Given the description of an element on the screen output the (x, y) to click on. 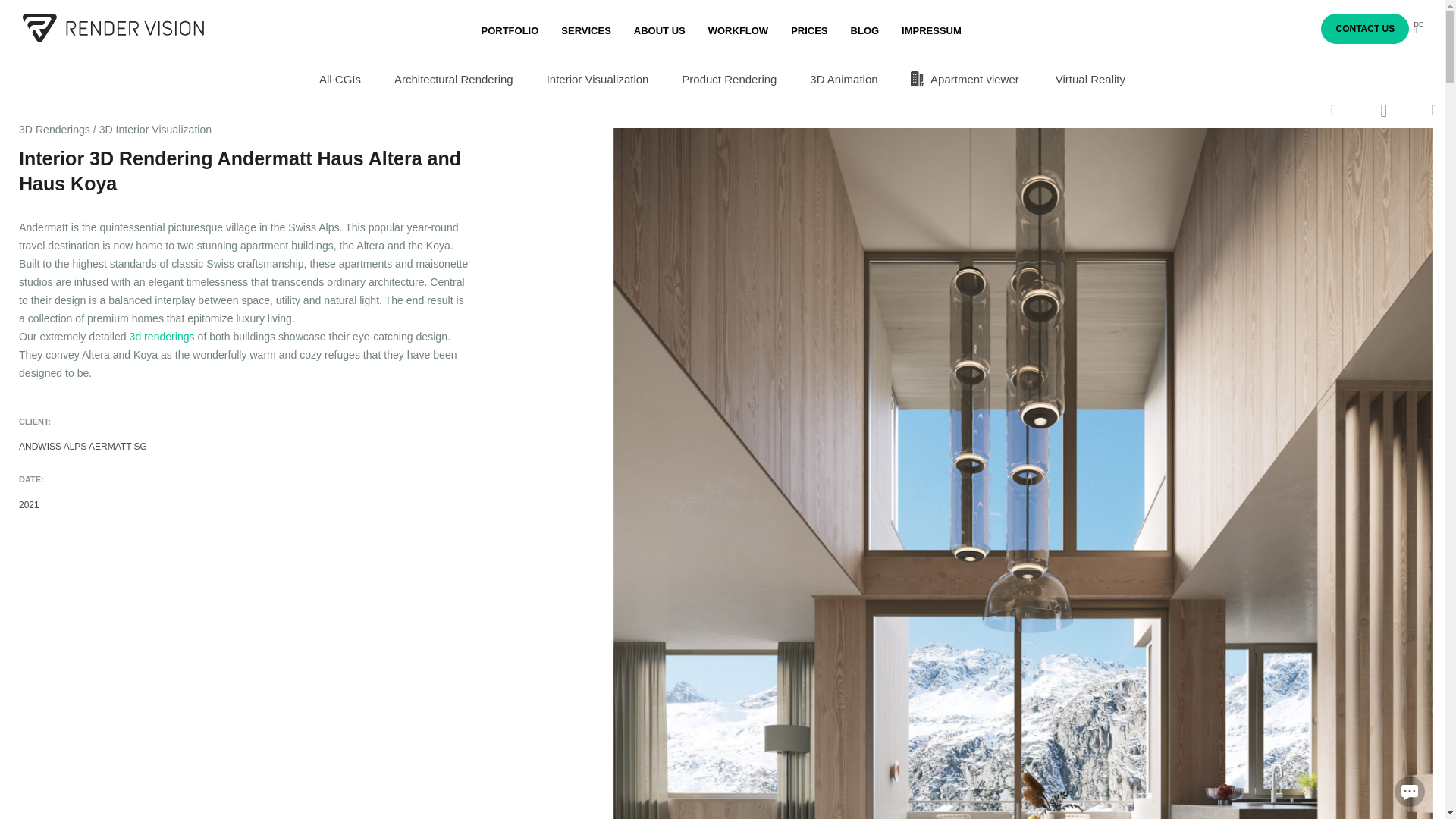
3D Renderings (54, 129)
PRICES (808, 30)
WORKFLOW (737, 30)
PORTFOLIO (509, 30)
SERVICES (585, 30)
IMPRESSUM (931, 30)
CONTACT US (1364, 28)
Interior Visualization (597, 78)
Architectural Rendering (453, 78)
3d renderings (162, 336)
Product Rendering (729, 78)
3D Interior Visualization (155, 129)
3D Animation (843, 78)
Apartment viewer (964, 78)
